Given the description of an element on the screen output the (x, y) to click on. 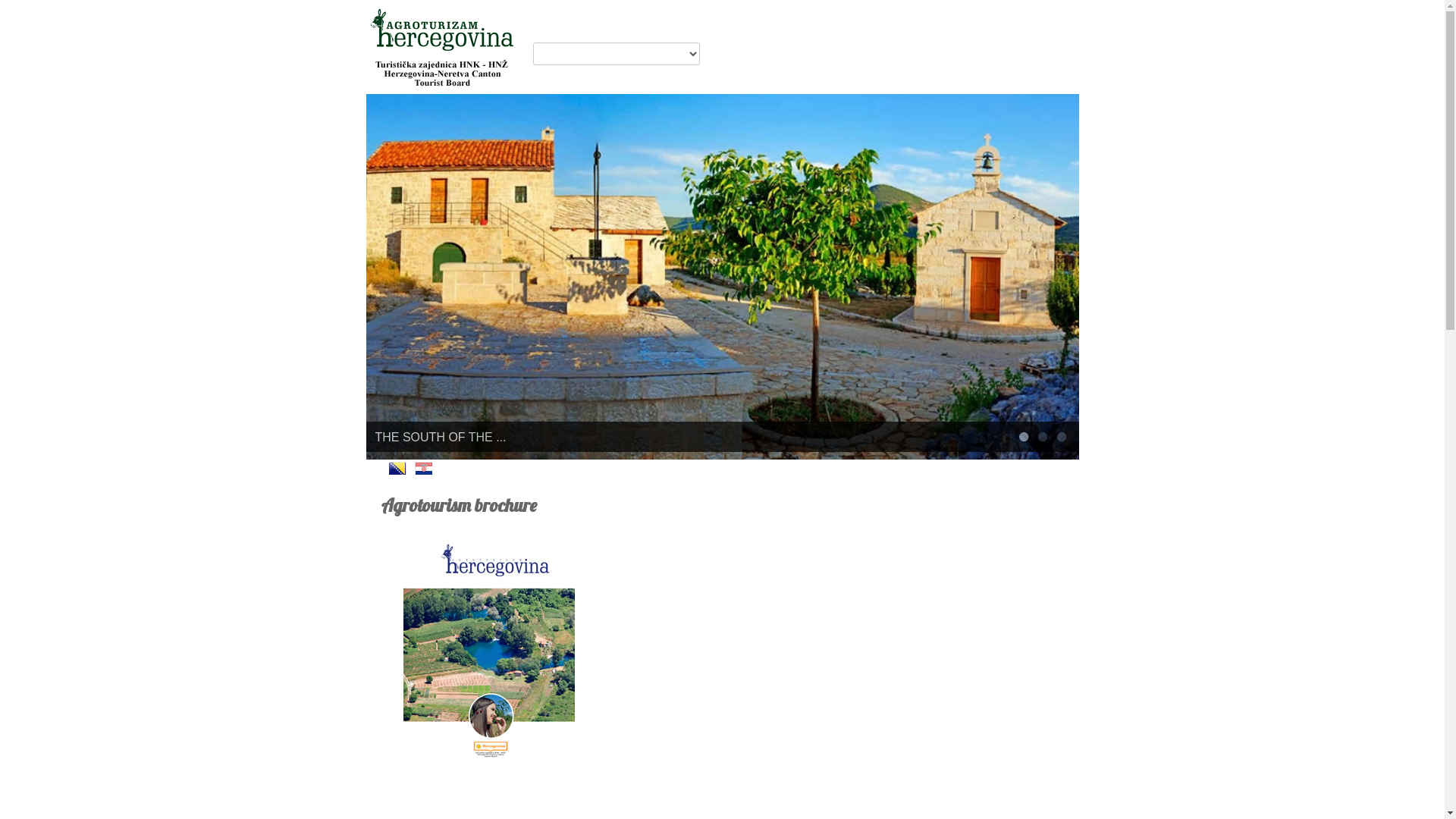
Hercegovina Element type: hover (441, 44)
The South of the Canton Element type: hover (721, 275)
